Given the description of an element on the screen output the (x, y) to click on. 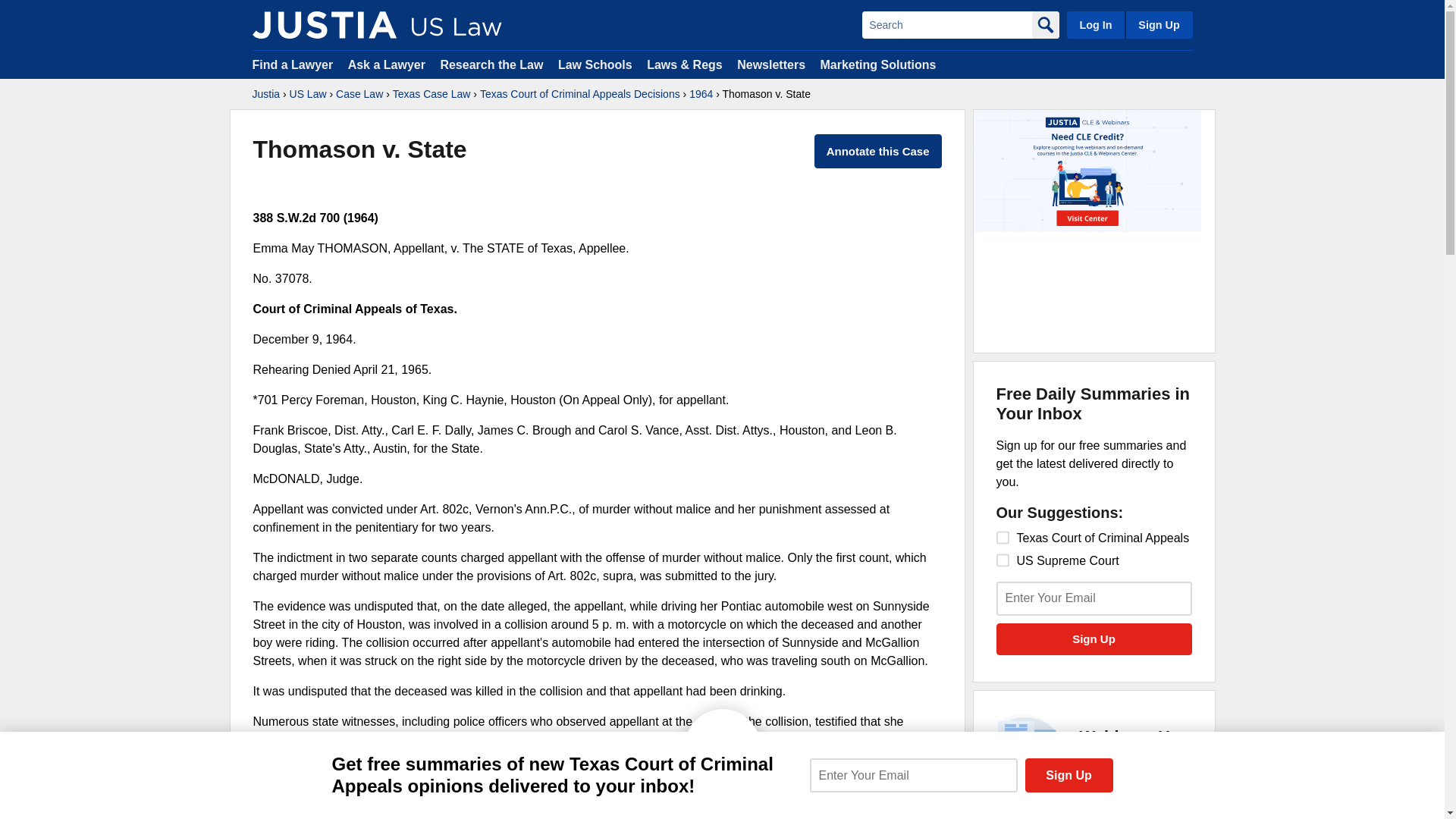
Toggle (721, 720)
Case Law (359, 93)
1964 (700, 93)
Newsletters (770, 64)
Log In (1094, 24)
14 (1002, 559)
84 (1002, 536)
Enter email (913, 775)
Justia (265, 93)
Search (945, 24)
Justia (323, 24)
US Law (307, 93)
Texas Case Law (431, 93)
Annotate this Case (877, 151)
Enter email (1093, 598)
